Given the description of an element on the screen output the (x, y) to click on. 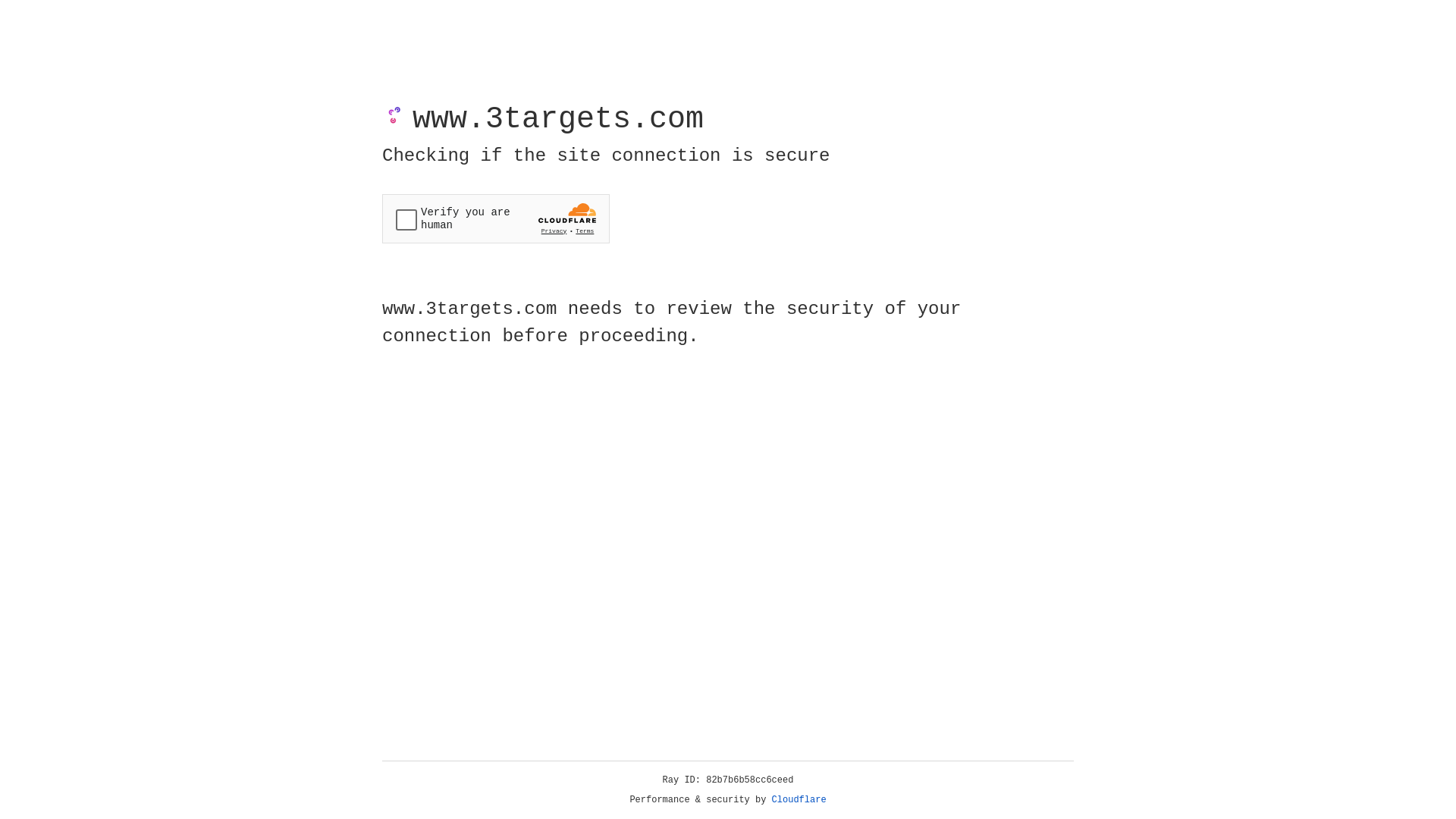
Cloudflare Element type: text (798, 799)
Widget containing a Cloudflare security challenge Element type: hover (495, 218)
